Given the description of an element on the screen output the (x, y) to click on. 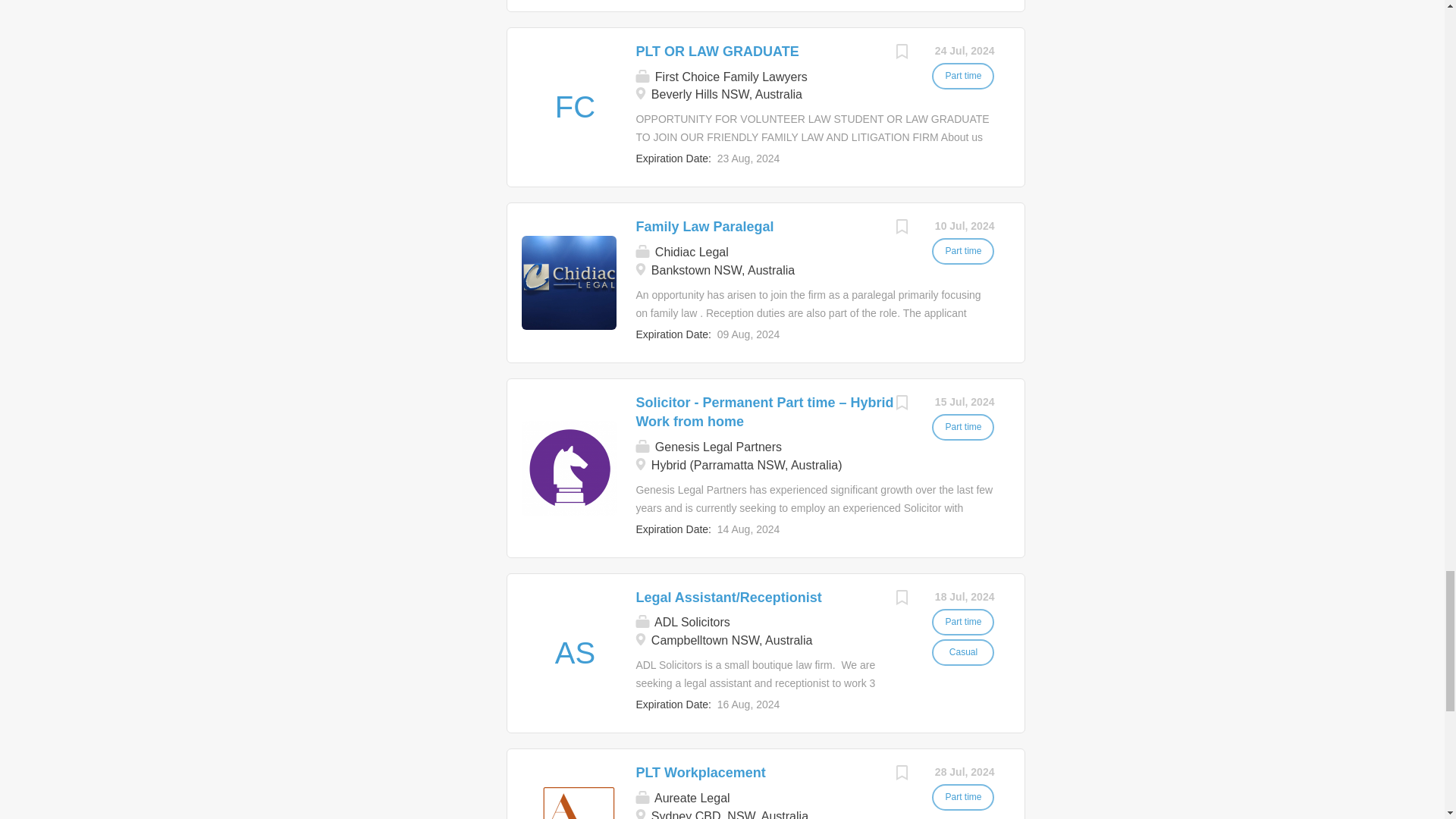
First Choice Family Lawyers (574, 106)
